Given the description of an element on the screen output the (x, y) to click on. 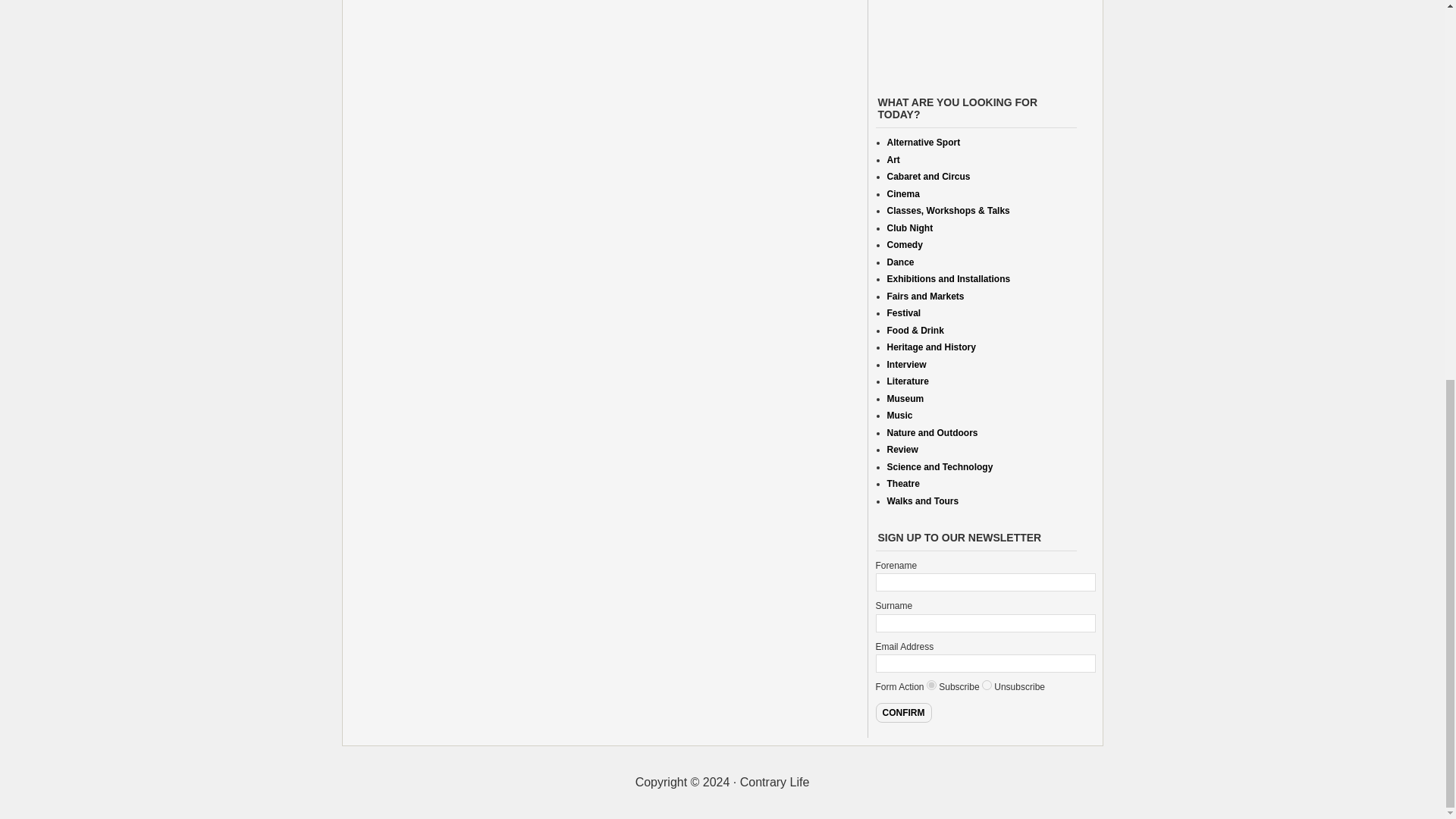
unsubscribe (986, 685)
Alternative Sport (923, 142)
Confirm (903, 712)
subscribe (931, 685)
